Given the description of an element on the screen output the (x, y) to click on. 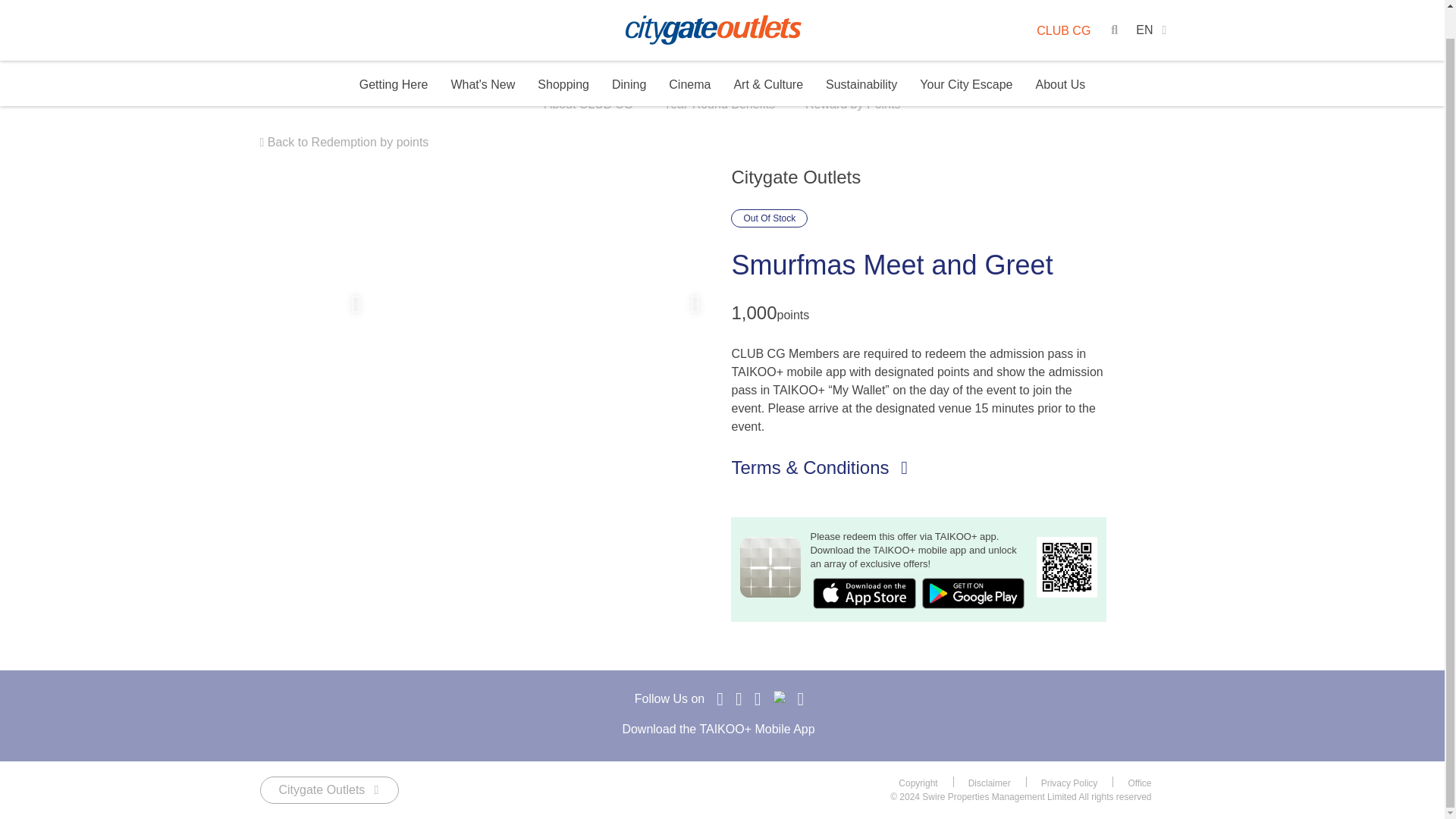
CLUB CG (1063, 7)
Getting Here (393, 55)
EN (1151, 7)
Year-Round Benefits (719, 105)
Dining (628, 55)
Reward by Points (852, 105)
Sustainability (860, 55)
What's New (482, 55)
Your City Escape (965, 55)
About Us (1059, 55)
Cinema (689, 55)
Shopping (563, 55)
Back to Redemption by points (343, 141)
About CLUB CG (588, 105)
